Given the description of an element on the screen output the (x, y) to click on. 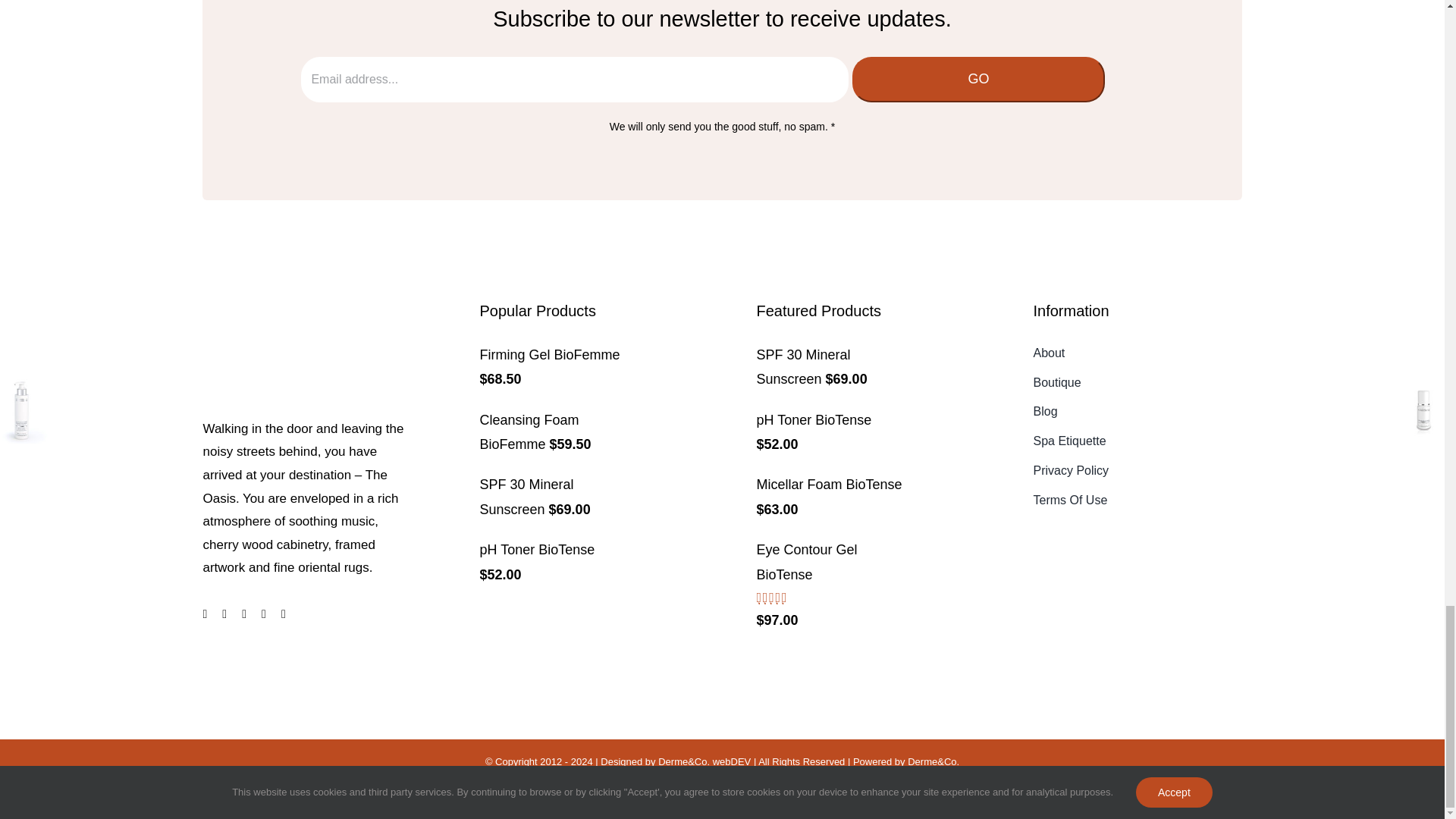
GO (978, 79)
